Given the description of an element on the screen output the (x, y) to click on. 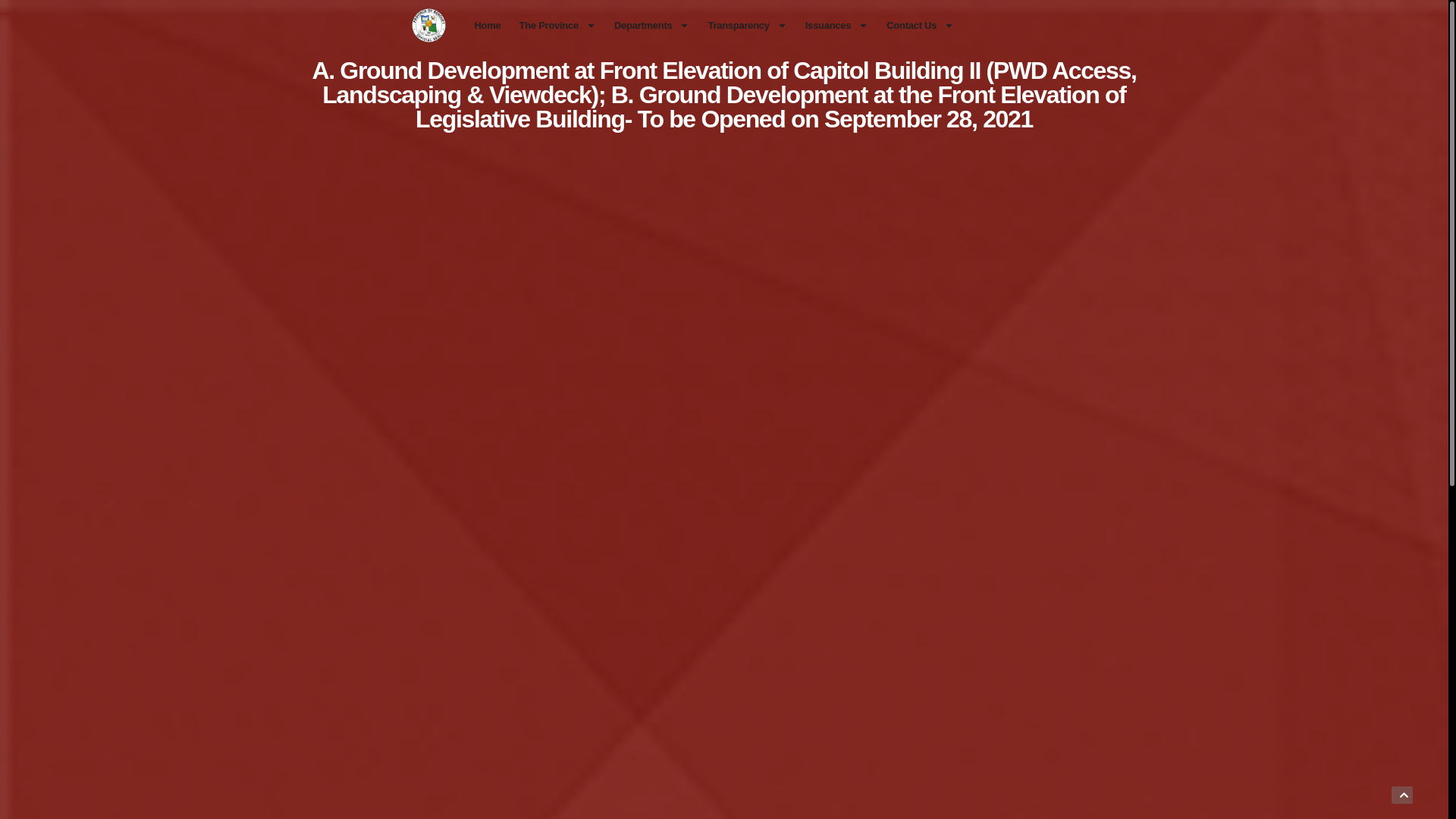
Home (488, 25)
The Province (558, 25)
Departments (651, 25)
